Given the description of an element on the screen output the (x, y) to click on. 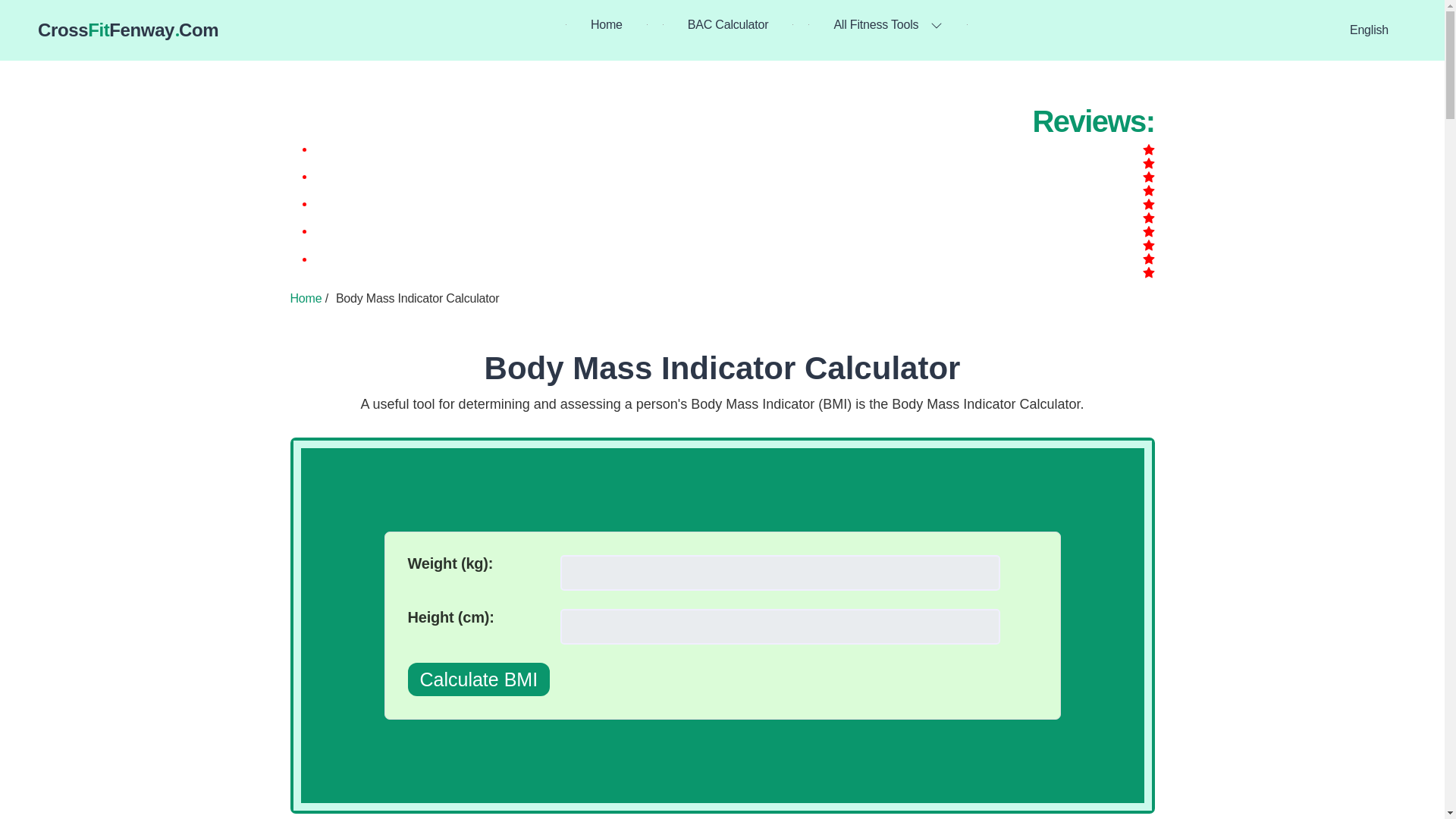
Home (607, 24)
Body Mass Indicator Calculator (722, 367)
Calculate BMI (127, 30)
Home (478, 679)
how to send pdf to email (305, 297)
how to type in a pdf document (727, 24)
